Given the description of an element on the screen output the (x, y) to click on. 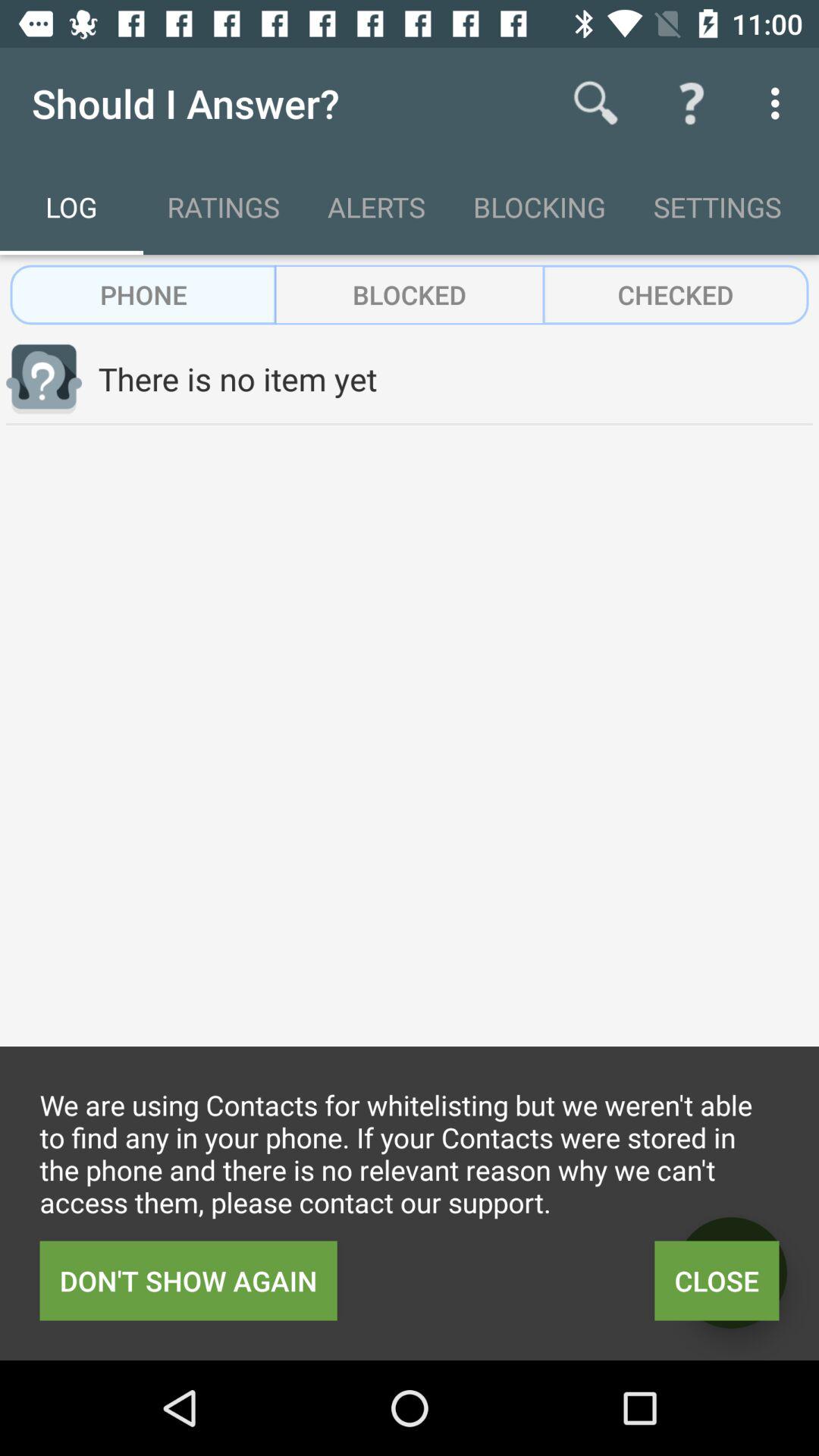
press the icon next to should i answer? (595, 103)
